Given the description of an element on the screen output the (x, y) to click on. 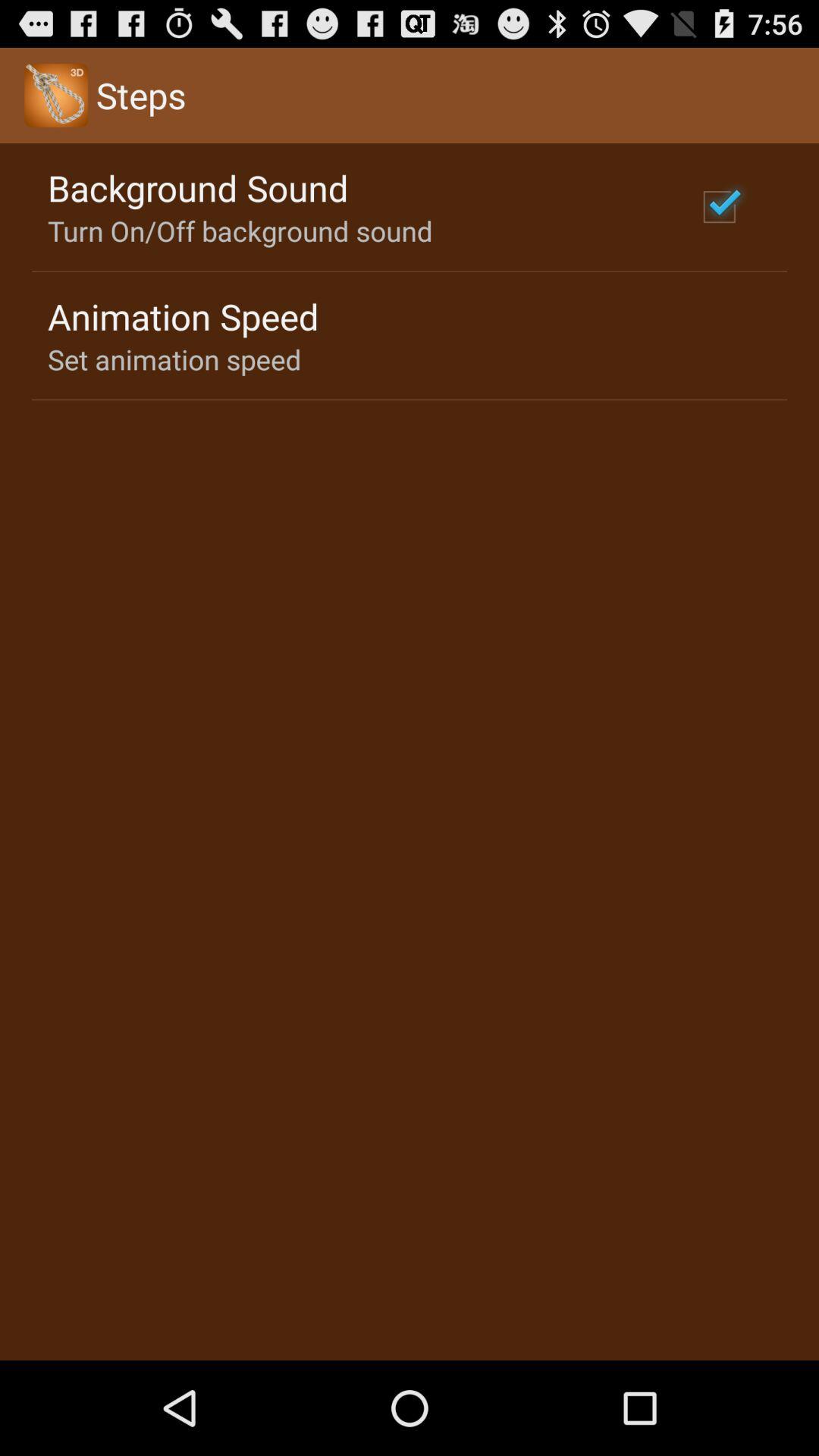
flip to turn on off item (239, 230)
